Given the description of an element on the screen output the (x, y) to click on. 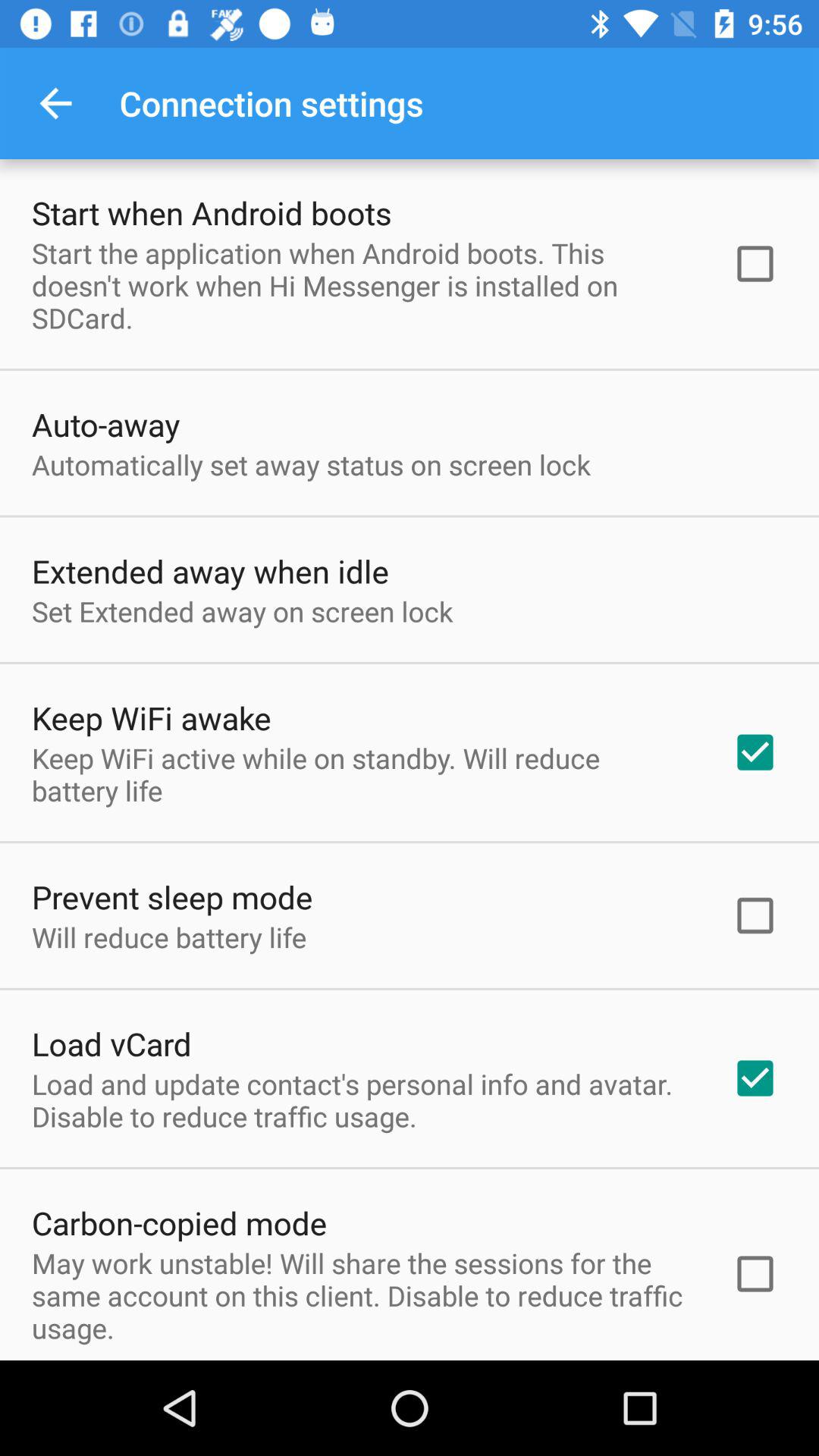
select the item below will reduce battery icon (111, 1043)
